Given the description of an element on the screen output the (x, y) to click on. 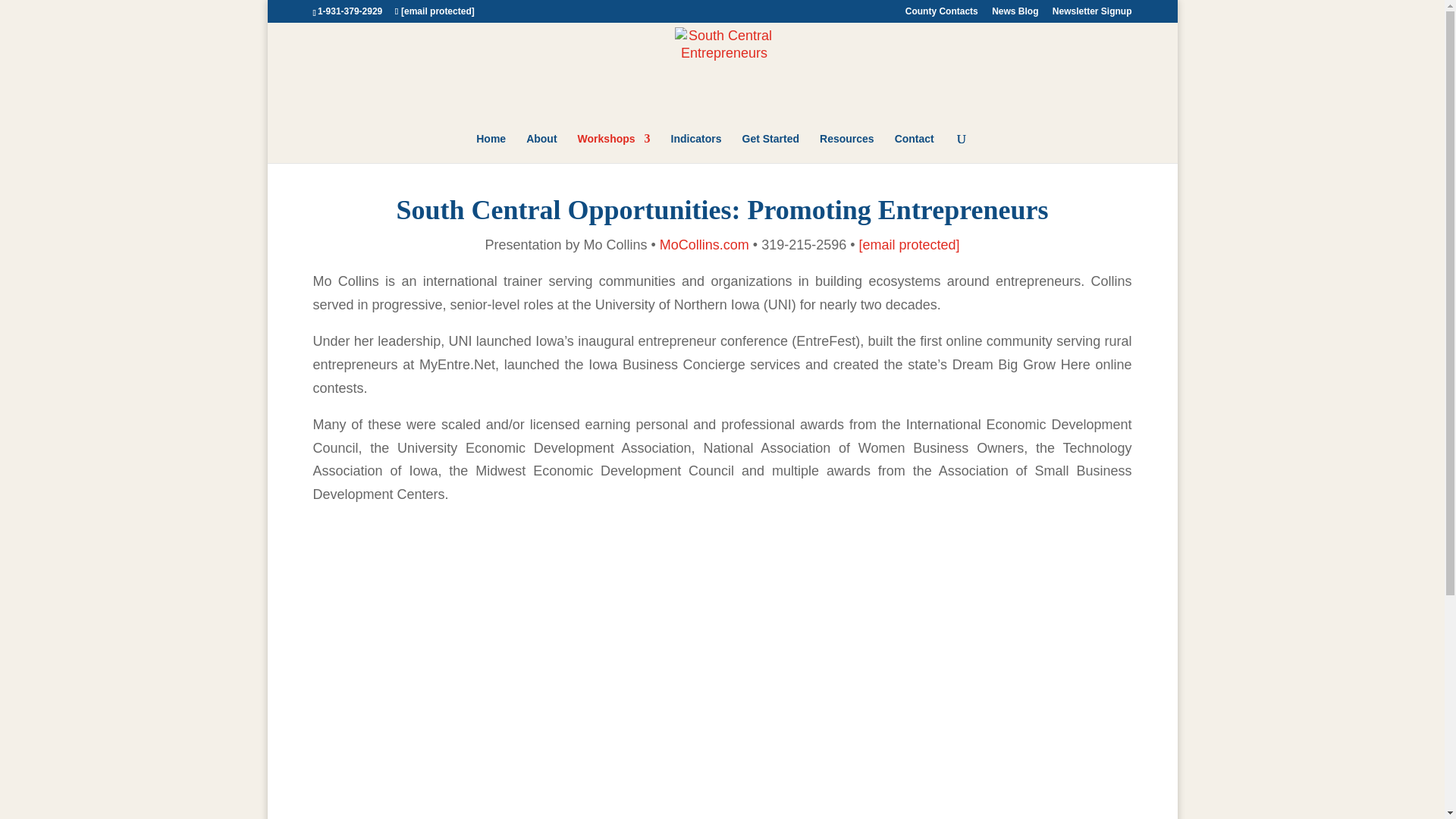
Get Started (770, 147)
About (540, 147)
News Blog (1014, 14)
MoCollins.com (704, 244)
Newsletter Signup (1092, 14)
Home (490, 147)
County Contacts (941, 14)
Contact (914, 147)
Workshops (614, 147)
Resources (847, 147)
Indicators (696, 147)
